Given the description of an element on the screen output the (x, y) to click on. 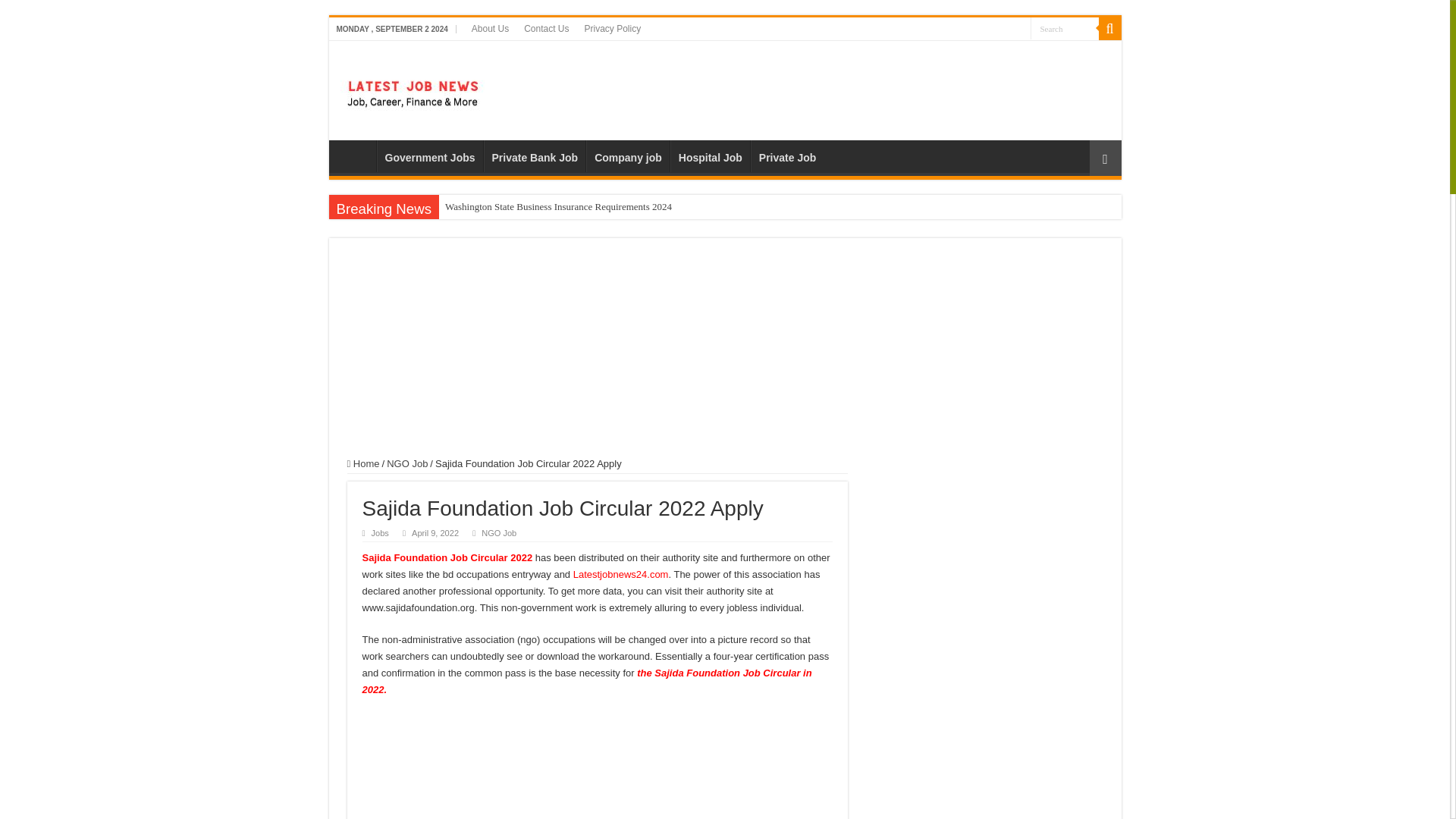
Private Bank Job (534, 155)
Search (1063, 28)
Washington State Business Insurance Requirements 2024 (558, 206)
Washington State Business Insurance Requirements 2024 (558, 206)
Private Job (787, 155)
Search (1063, 28)
Latestjobnews24.com (620, 573)
Government Jobs (428, 155)
Hospital Job (709, 155)
Privacy Policy (611, 28)
